Given the description of an element on the screen output the (x, y) to click on. 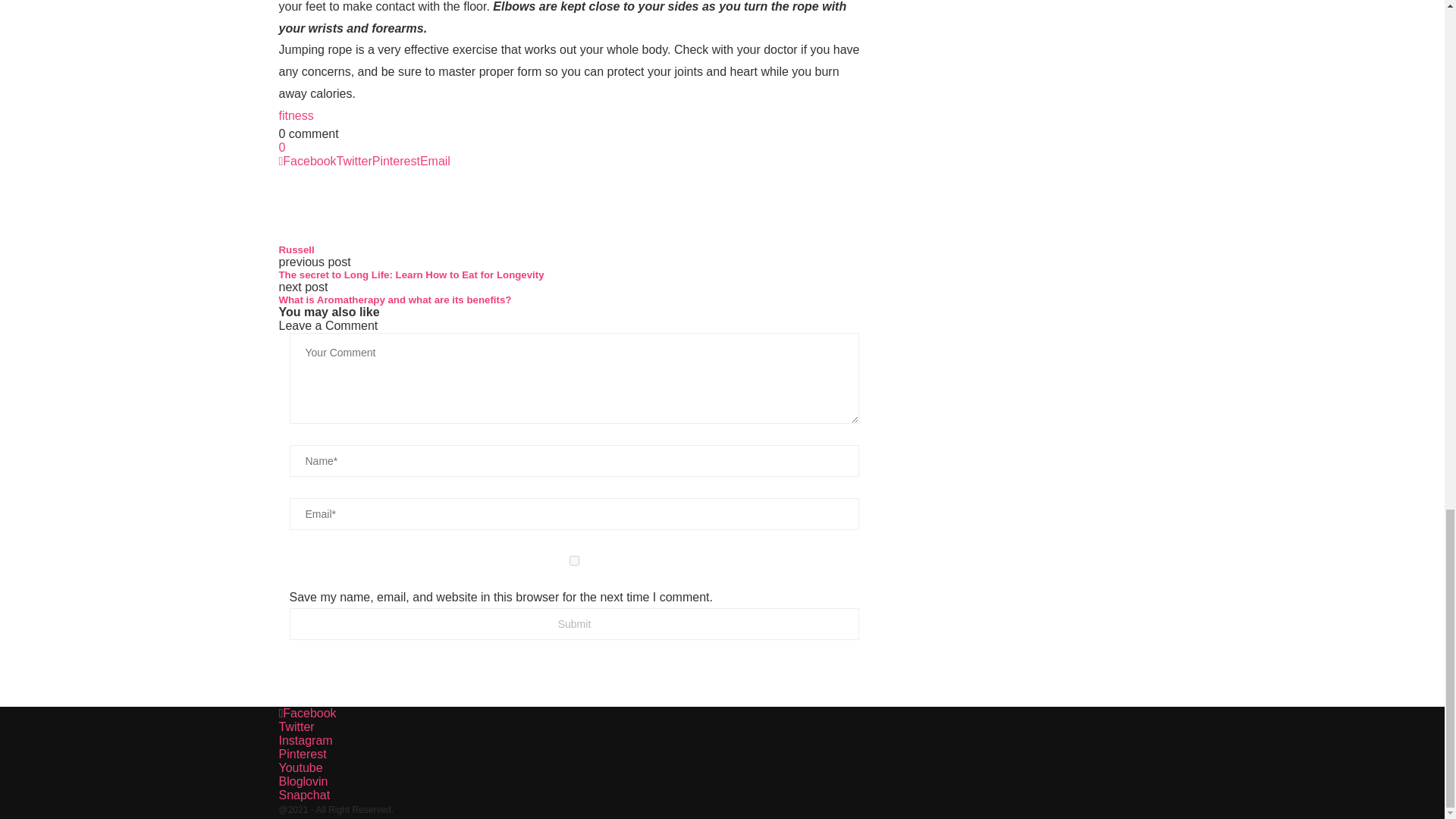
Pinterest (396, 160)
Author Russell (296, 249)
Russell (296, 249)
The secret to Long Life: Learn How to Eat for Longevity (574, 274)
Submit (574, 623)
What is Aromatherapy and what are its benefits? (574, 299)
yes (574, 560)
fitness (296, 115)
Twitter (354, 160)
Facebook (307, 160)
Email (434, 160)
